Given the description of an element on the screen output the (x, y) to click on. 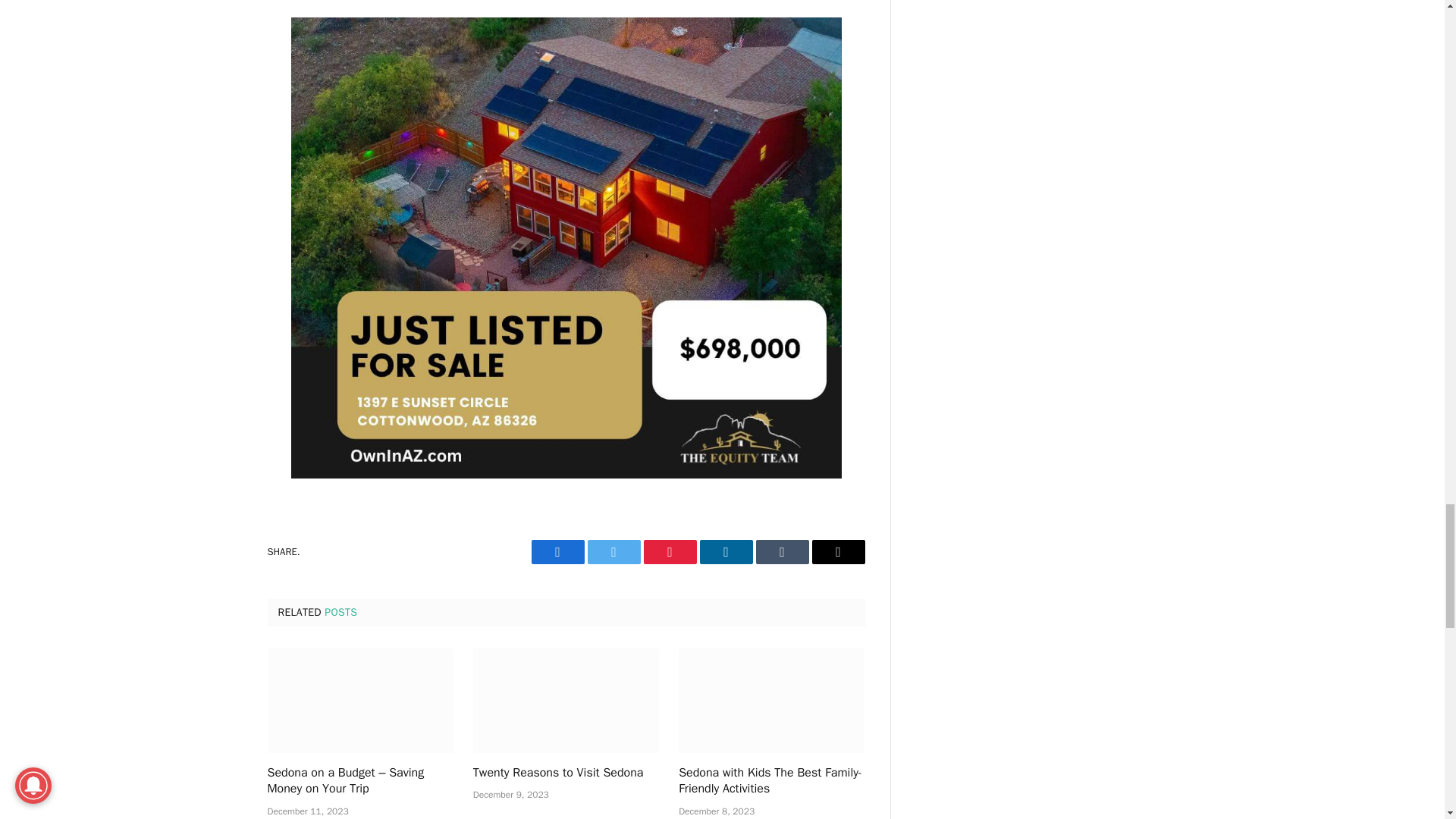
Share on Pinterest (669, 551)
Share on LinkedIn (725, 551)
Share on Facebook (557, 551)
Share on Tumblr (781, 551)
Share via Email (837, 551)
